Given the description of an element on the screen output the (x, y) to click on. 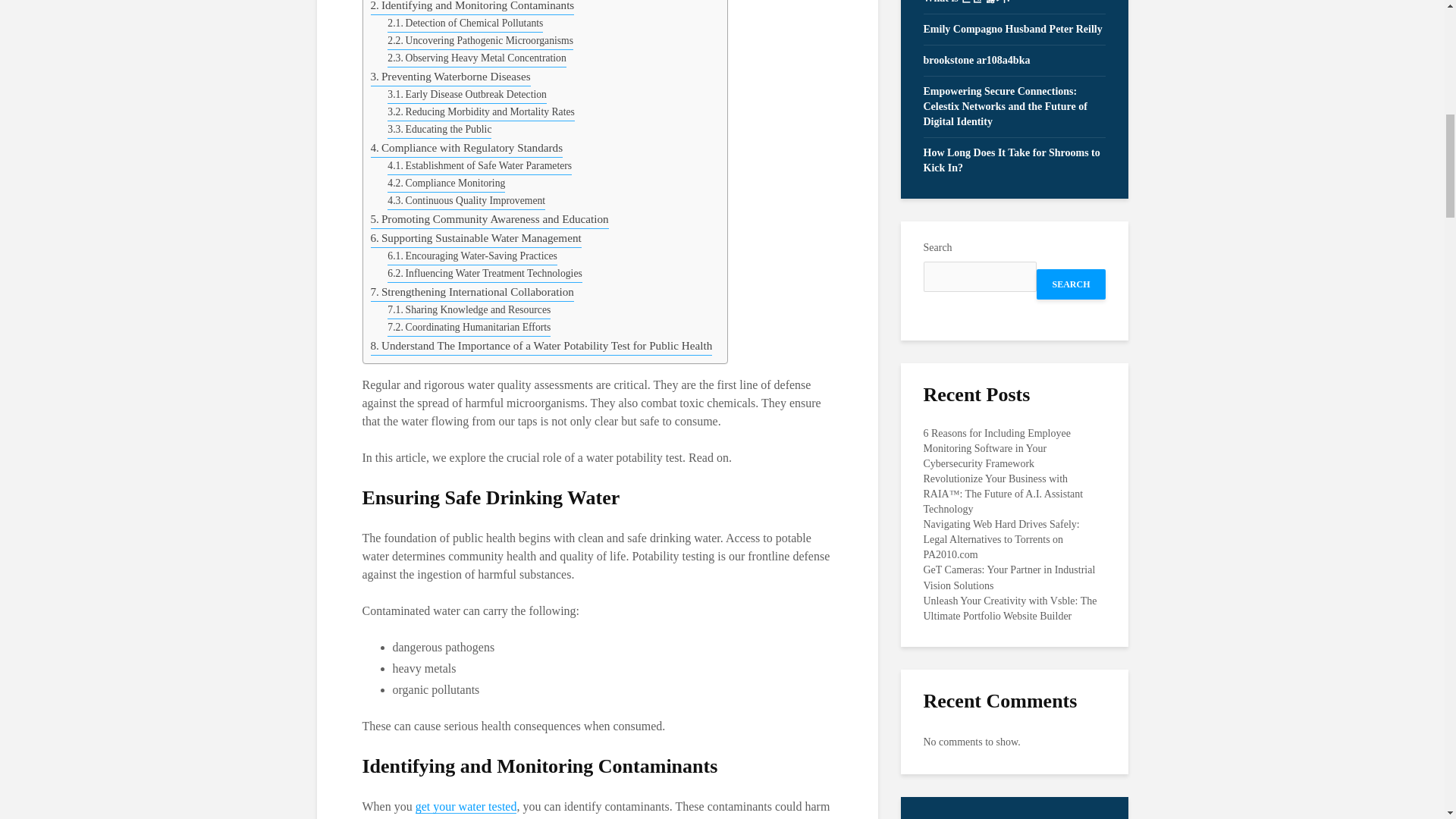
Compliance with Regulatory Standards (465, 148)
Continuous Quality Improvement (465, 200)
Establishment of Safe Water Parameters (479, 166)
Preventing Waterborne Diseases (449, 76)
Uncovering Pathogenic Microorganisms (480, 40)
Encouraging Water-Saving Practices (472, 256)
Reducing Morbidity and Mortality Rates (481, 112)
Promoting Community Awareness and Education (488, 219)
Early Disease Outbreak Detection (467, 95)
Compliance Monitoring (446, 183)
Identifying and Monitoring Contaminants (471, 7)
Detection of Chemical Pollutants (465, 23)
Observing Heavy Metal Concentration (476, 58)
Educating the Public (439, 129)
Supporting Sustainable Water Management (474, 238)
